Given the description of an element on the screen output the (x, y) to click on. 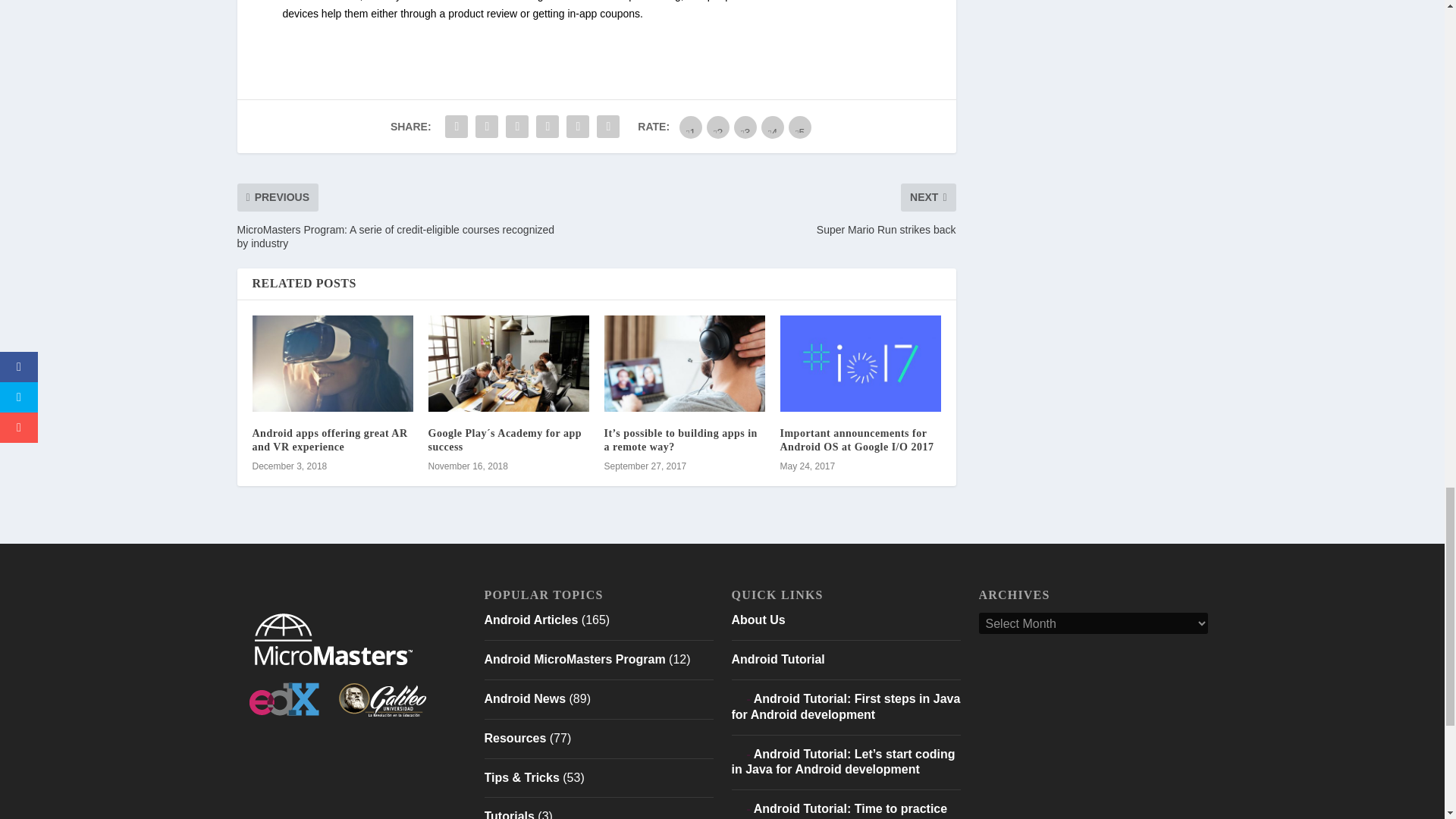
Share "Mobile usage in Holiday Season" via Print (607, 126)
Android apps offering great AR and VR experience (329, 439)
Android apps offering great AR and VR experience (331, 363)
Share "Mobile usage in Holiday Season" via Facebook (456, 126)
good (772, 127)
Share "Mobile usage in Holiday Season" via Email (577, 126)
Share "Mobile usage in Holiday Season" via Twitter (486, 126)
Share "Mobile usage in Holiday Season" via LinkedIn (547, 126)
poor (717, 127)
gorgeous (799, 127)
